Given the description of an element on the screen output the (x, y) to click on. 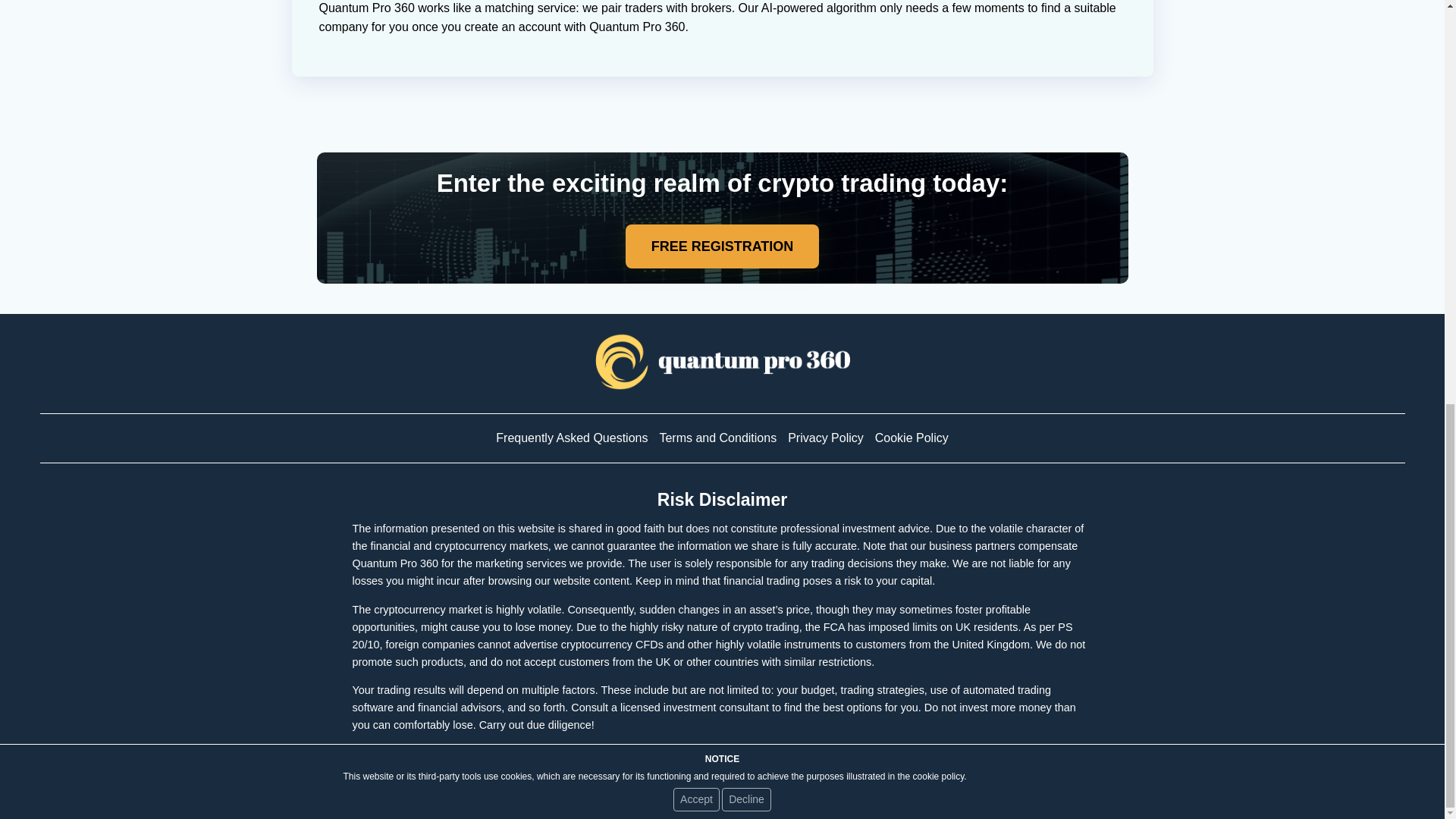
Decline (746, 6)
Terms and Conditions (717, 438)
Cookie Policy (912, 438)
FREE REGISTRATION (722, 246)
Accept (695, 6)
Frequently Asked Questions (571, 438)
Privacy Policy (825, 438)
